Given the description of an element on the screen output the (x, y) to click on. 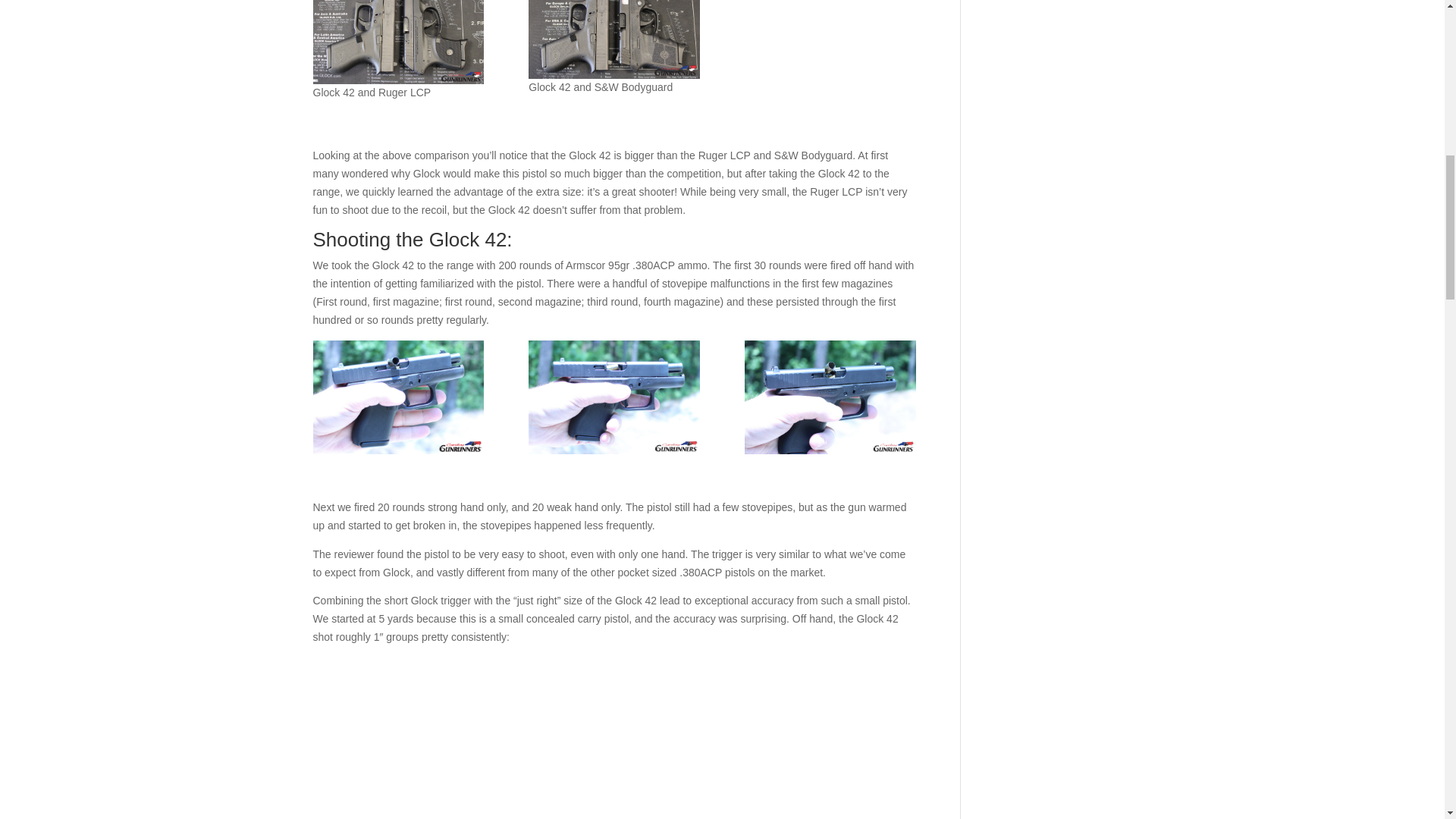
Glock 42 vs Ruger LCP (398, 42)
Glock 42 Stovepipe1 (829, 396)
Glock 42 Stovepipe 3 (613, 396)
Glock 42 Stovepipe 2 (398, 396)
Glock 42 vs SW Bodyguard (613, 39)
